Given the description of an element on the screen output the (x, y) to click on. 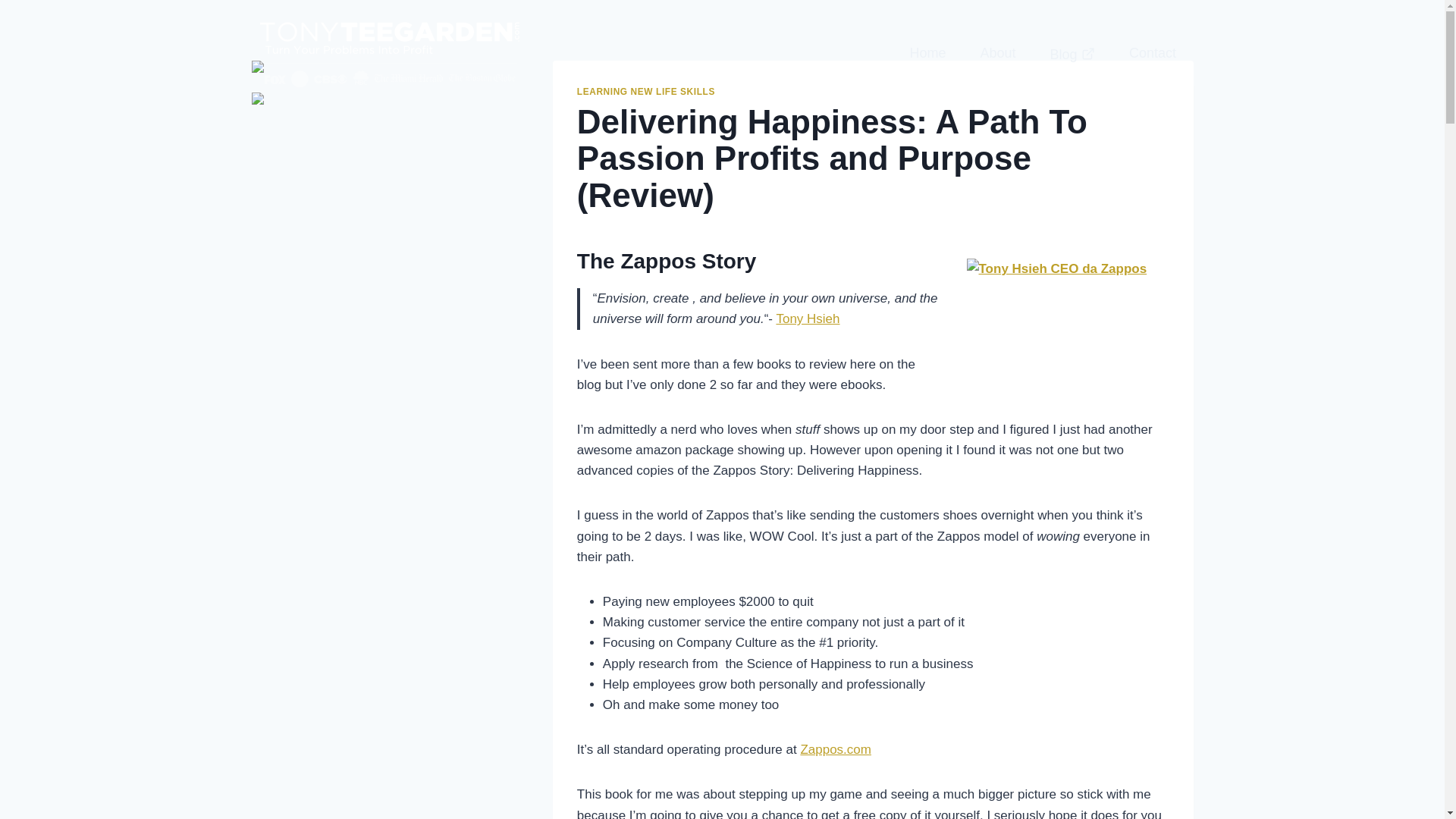
Home (927, 52)
Tony Hsieh (808, 318)
Zappos.com (834, 749)
LEARNING NEW LIFE SKILLS (645, 91)
Tony Hsieh (808, 318)
Tony Hsieh CEO da Zappos (1057, 318)
Blog (1072, 52)
About (997, 52)
Zappos (834, 749)
Contact (1152, 52)
